Given the description of an element on the screen output the (x, y) to click on. 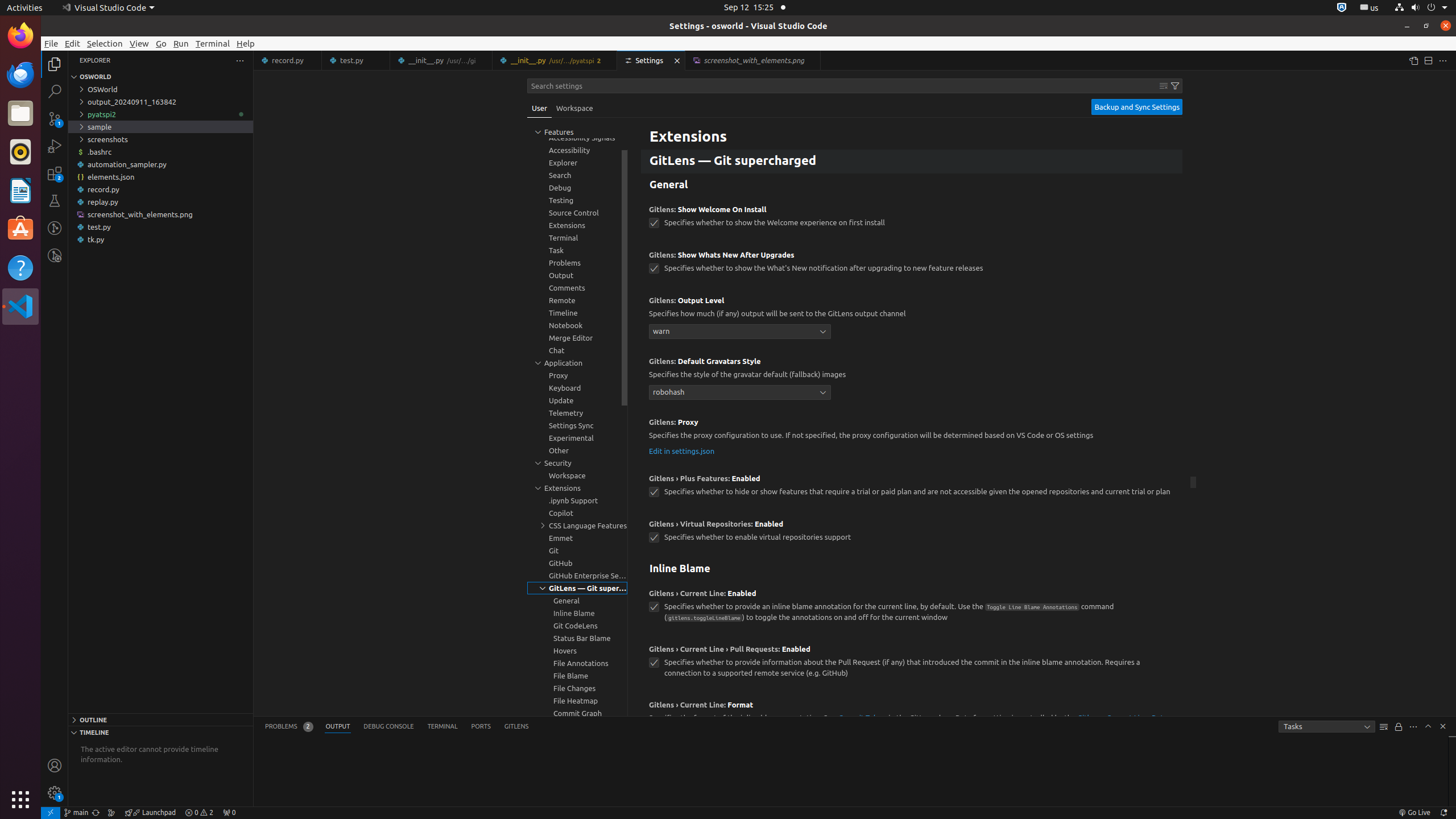
.ipynb Support, group Element type: tree-item (577, 500)
Show the GitLens Commit Graph Element type: push-button (111, 812)
Extensions (Ctrl+Shift+X) - 2 require restart Extensions (Ctrl+Shift+X) - 2 require restart Element type: page-tab (54, 173)
Accessibility, group Element type: tree-item (577, 149)
Update, group Element type: tree-item (577, 400)
